Given the description of an element on the screen output the (x, y) to click on. 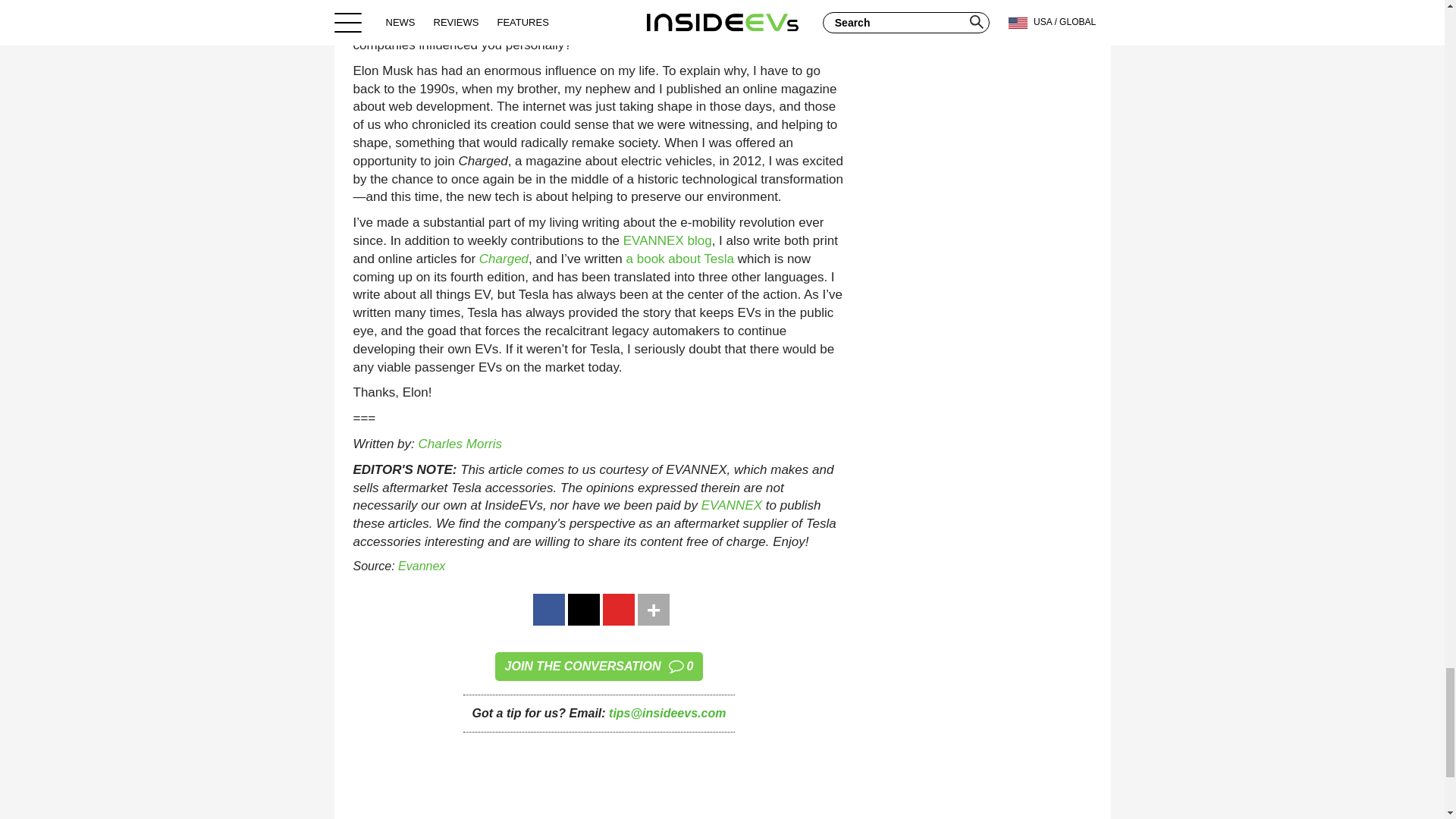
a book about Tesla (679, 258)
Charged (503, 258)
EVANNEX blog (667, 240)
